Given the description of an element on the screen output the (x, y) to click on. 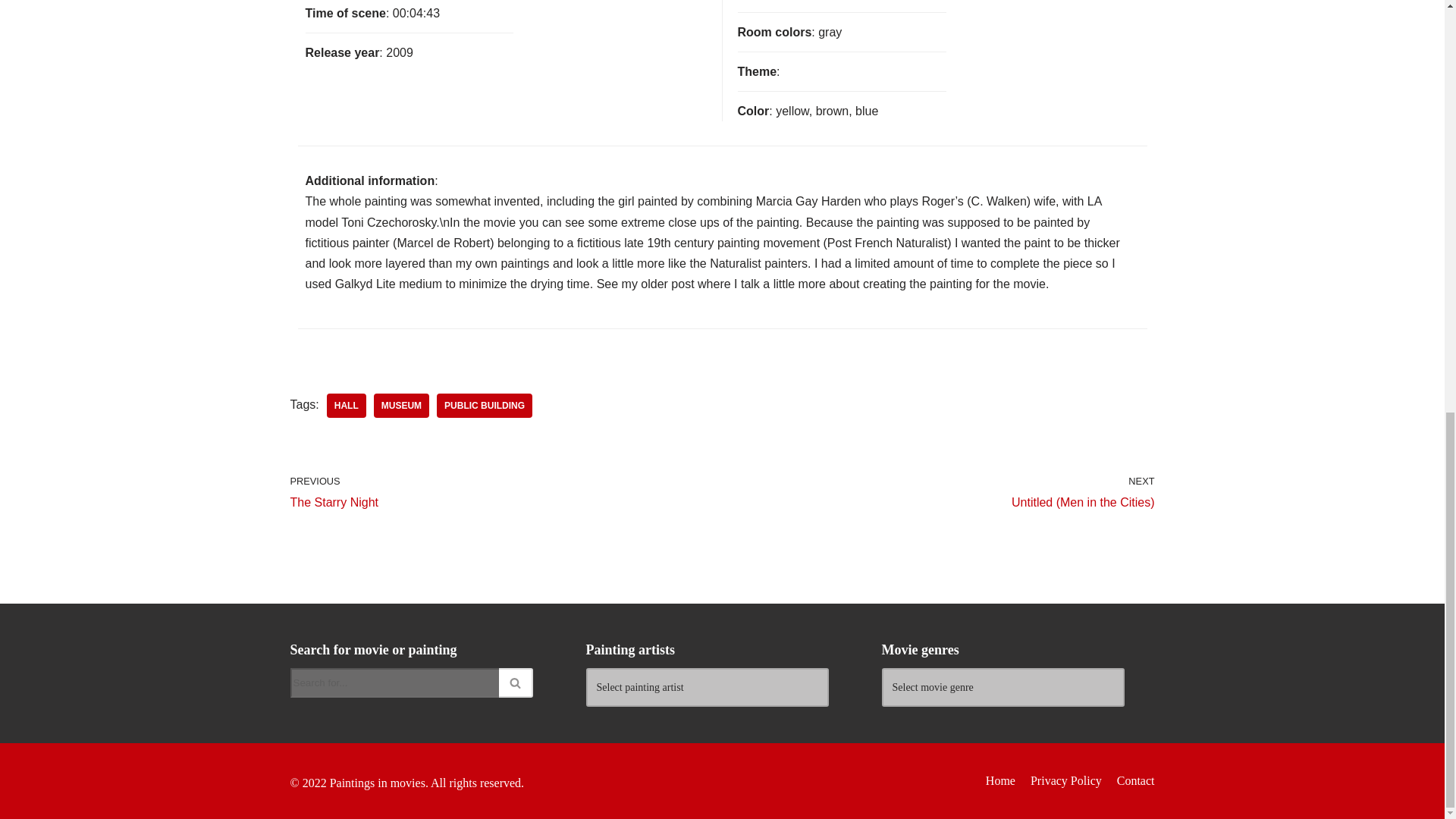
Privacy Policy (1066, 781)
hall (346, 405)
museum (401, 405)
Home (999, 781)
MUSEUM (401, 405)
HALL (346, 405)
PUBLIC BUILDING (484, 405)
public building (501, 490)
Contact (484, 405)
